Given the description of an element on the screen output the (x, y) to click on. 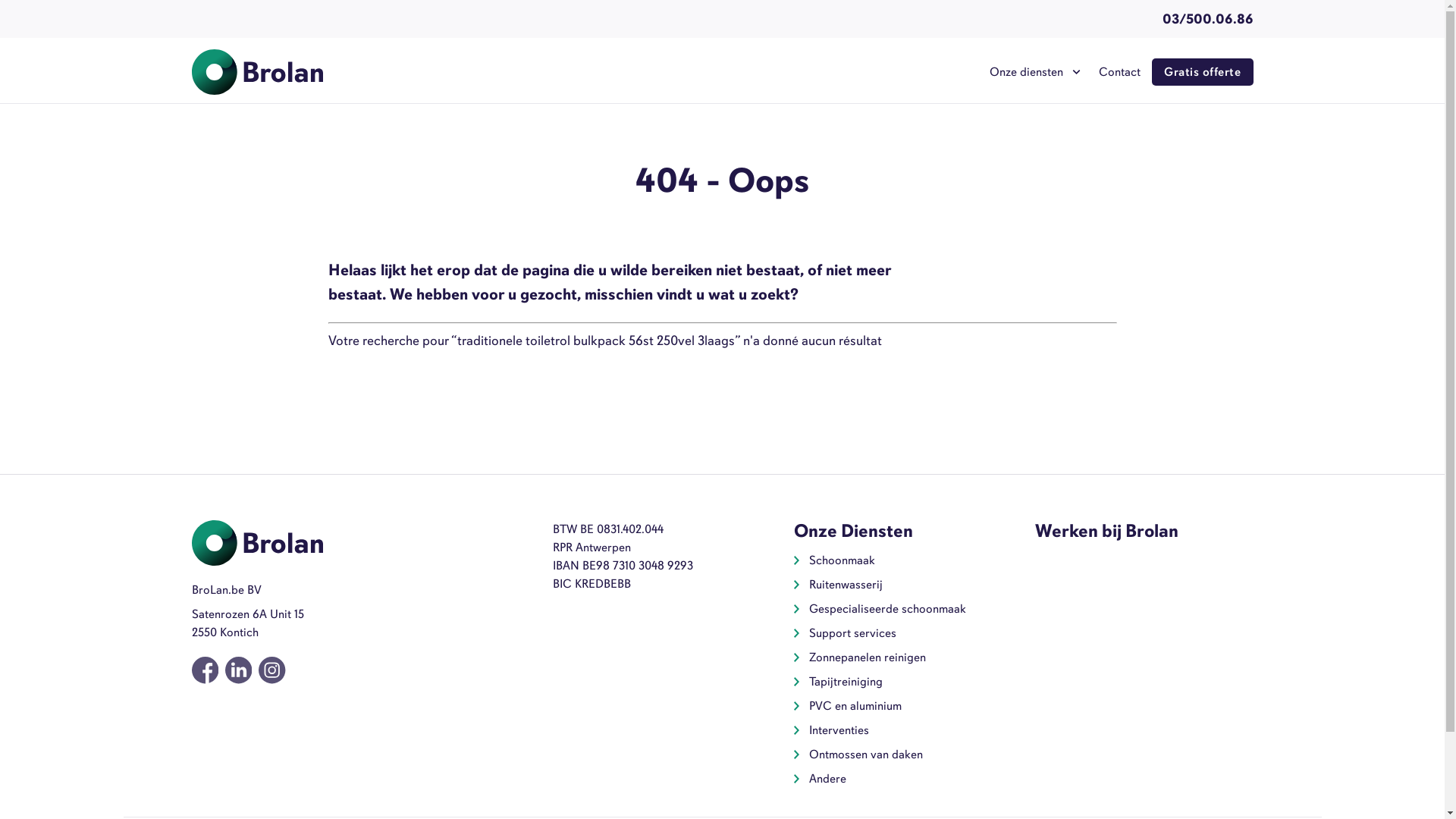
Support services Element type: text (852, 632)
Gespecialiseerde schoonmaak Element type: text (887, 608)
Ruitenwasserij Element type: text (845, 584)
Ontmossen van daken Element type: text (865, 754)
Schoonmaak Element type: text (842, 559)
Onze diensten Element type: text (1032, 71)
Contact Element type: text (1119, 71)
Zonnepanelen reinigen Element type: text (867, 657)
03/500.06.86 Element type: text (1206, 18)
Andere Element type: text (827, 778)
Tapijtreiniging Element type: text (845, 681)
PVC en aluminium Element type: text (855, 705)
Interventies Element type: text (839, 729)
Gratis offerte Element type: text (1201, 71)
